Given the description of an element on the screen output the (x, y) to click on. 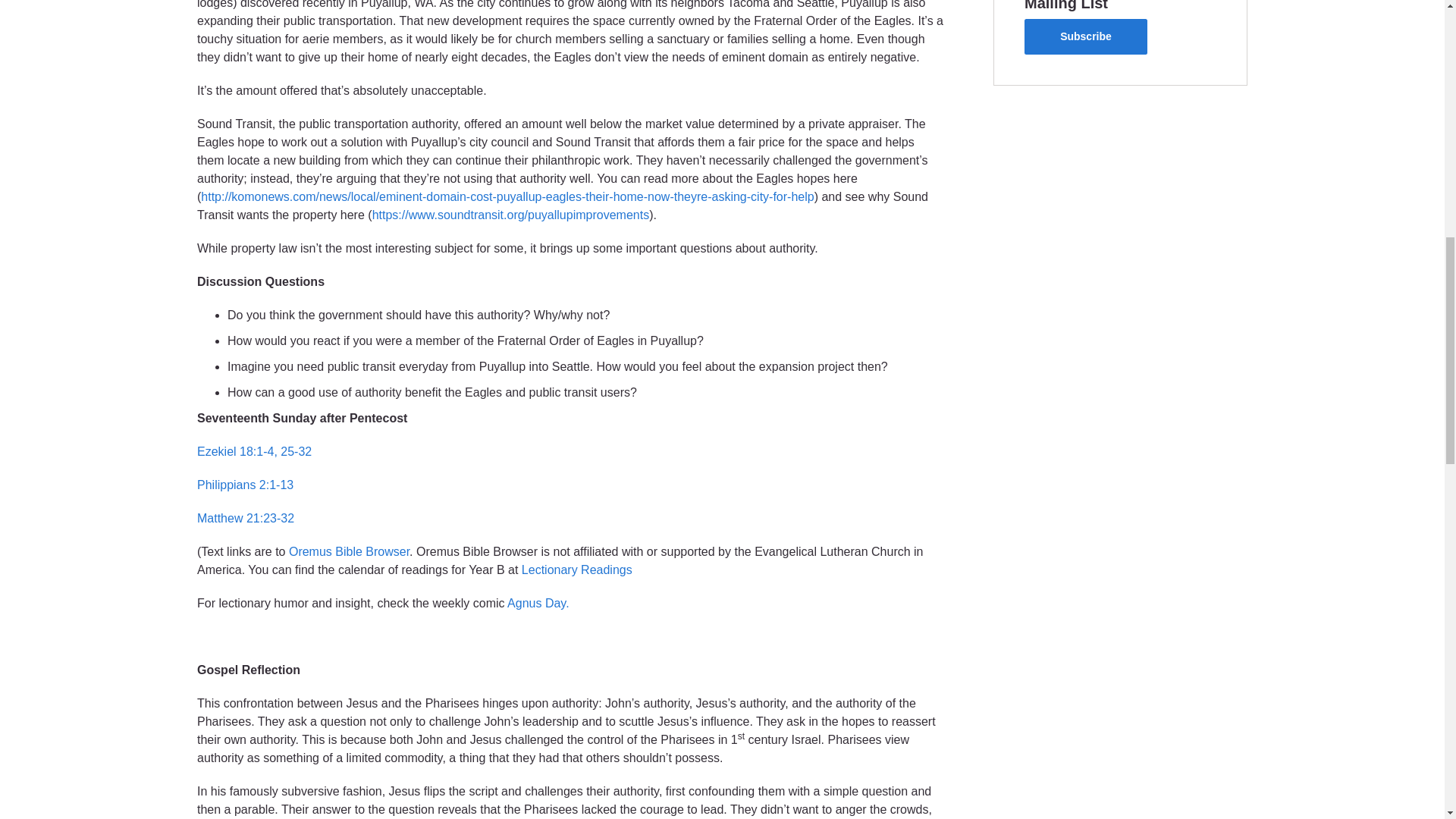
Lectionary Readings (576, 569)
Ezekiel 18:1-4, 25-32 (253, 451)
Agnus Day. (537, 603)
Oremus Bible Browser (348, 551)
Matthew 21:23-32 (245, 517)
Philippians 2:1-13 (245, 484)
